Given the description of an element on the screen output the (x, y) to click on. 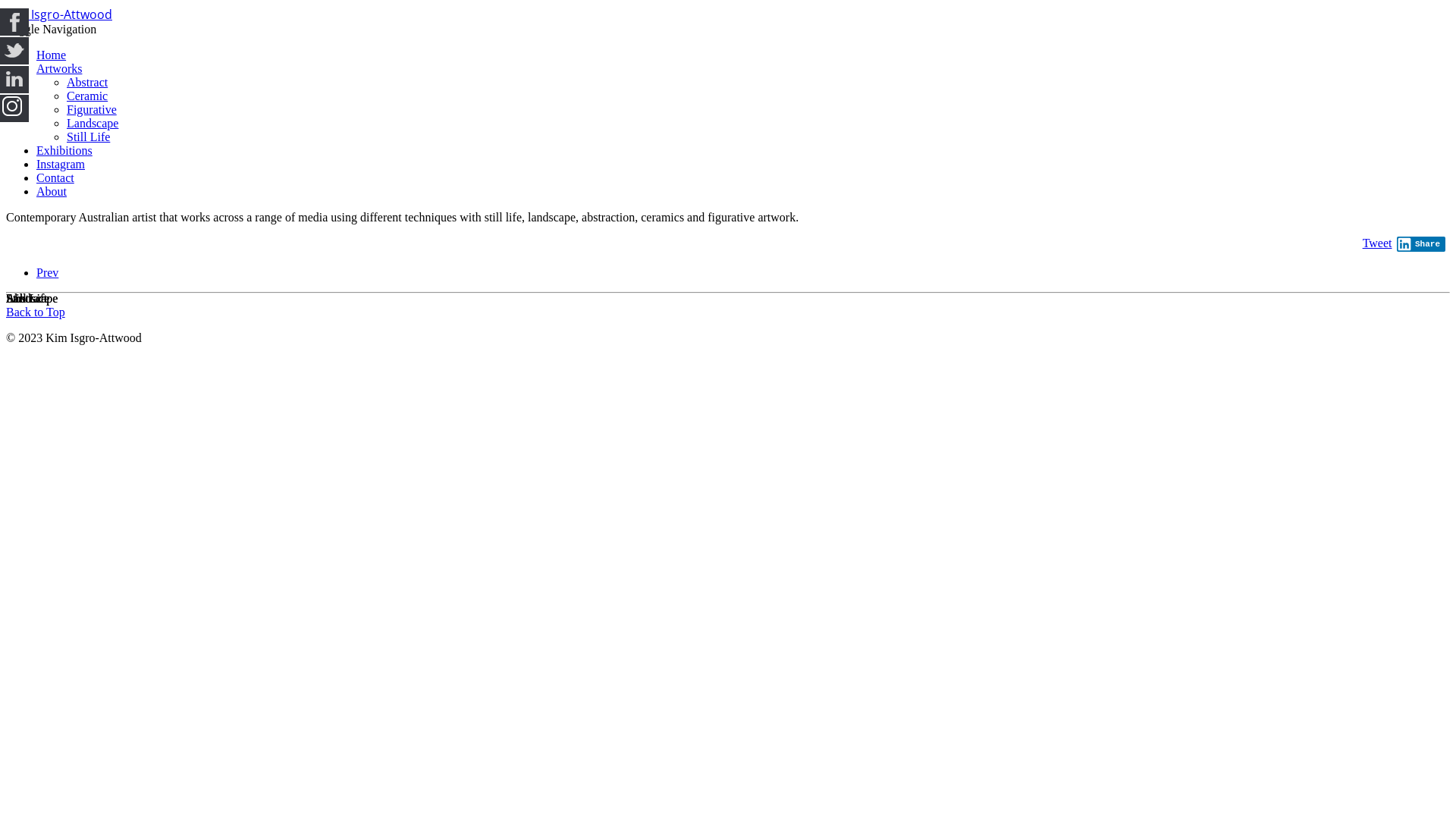
Abstract Element type: text (86, 81)
Tweet Element type: text (1377, 242)
Prev Element type: text (47, 272)
Contact Element type: text (55, 177)
Back to Top Element type: text (35, 311)
Exhibitions Element type: text (64, 150)
Still Life Element type: text (87, 136)
Figurative Element type: text (91, 109)
Kim Isgro-Attwood Element type: text (59, 14)
Home Element type: text (50, 54)
Instagram Element type: text (60, 163)
Artworks Element type: text (58, 68)
Toggle Navigation Element type: text (51, 28)
Ceramic Element type: text (86, 95)
About Element type: text (51, 191)
Share Element type: text (1420, 243)
Landscape Element type: text (92, 122)
